Given the description of an element on the screen output the (x, y) to click on. 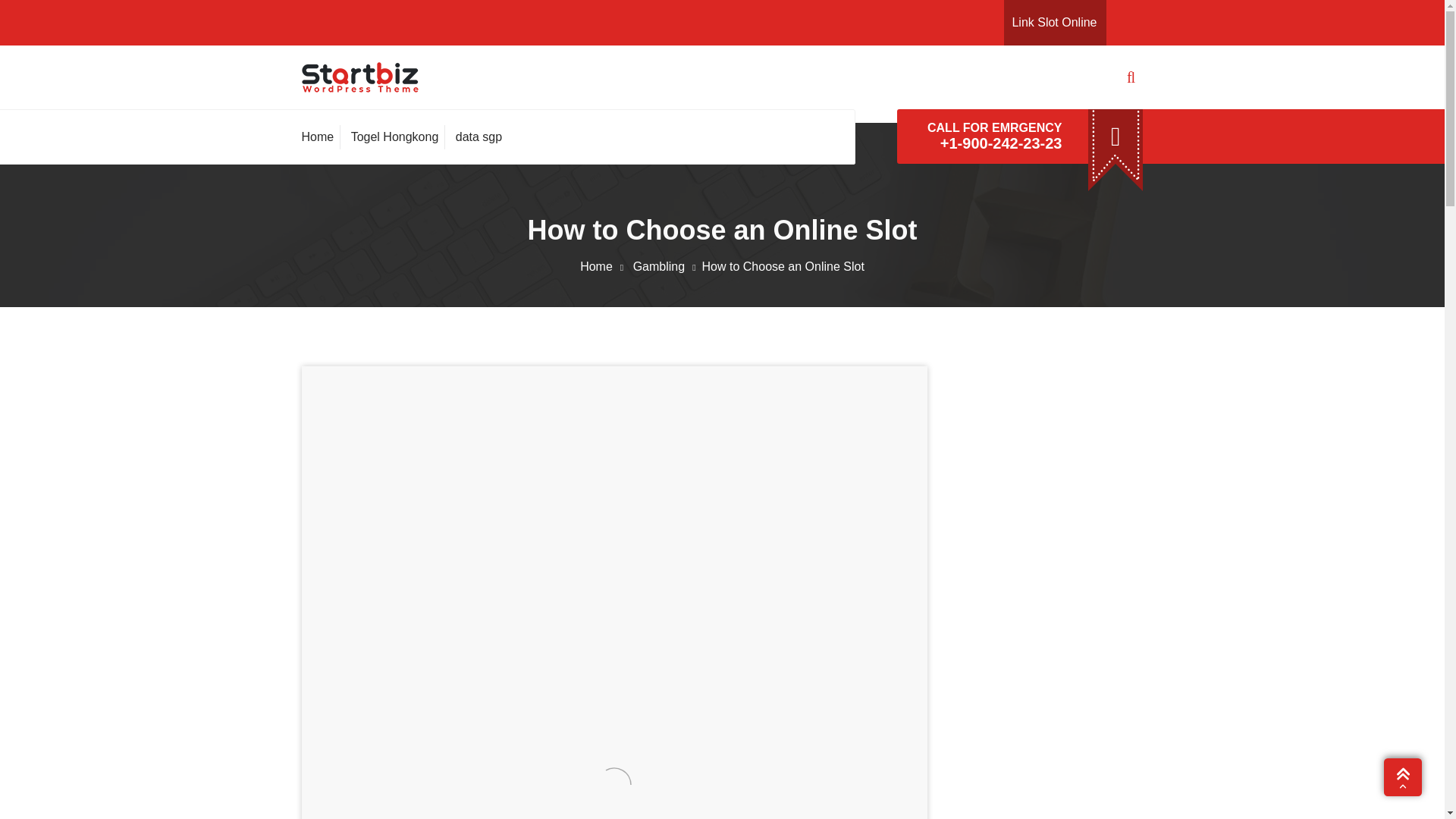
Togel Hongkong (394, 136)
data sgp (478, 136)
Gambling (667, 266)
Home (320, 136)
Home (320, 136)
data sgp (478, 136)
Togel Hongkong (394, 136)
Home (603, 266)
Link Slot Online (1053, 21)
